Given the description of an element on the screen output the (x, y) to click on. 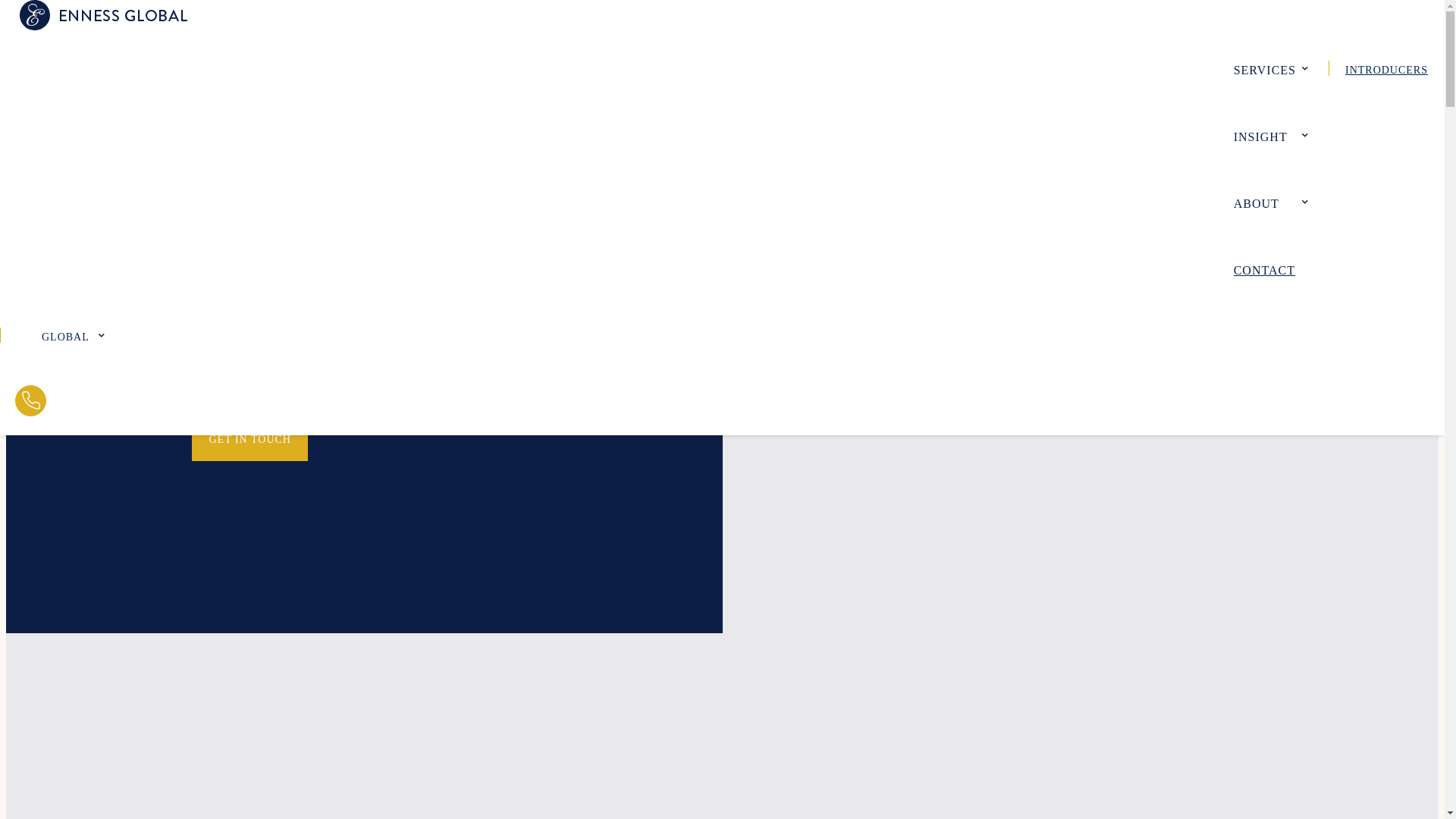
ABOUT (1270, 201)
en (58, 335)
About (1270, 201)
INSIGHT (1270, 134)
Contact (1273, 268)
CONTACT (1273, 268)
GLOBAL (58, 335)
Logo (103, 15)
Insight (1270, 134)
GET IN TOUCH (248, 438)
Services (1270, 68)
SERVICES (1270, 68)
